Given the description of an element on the screen output the (x, y) to click on. 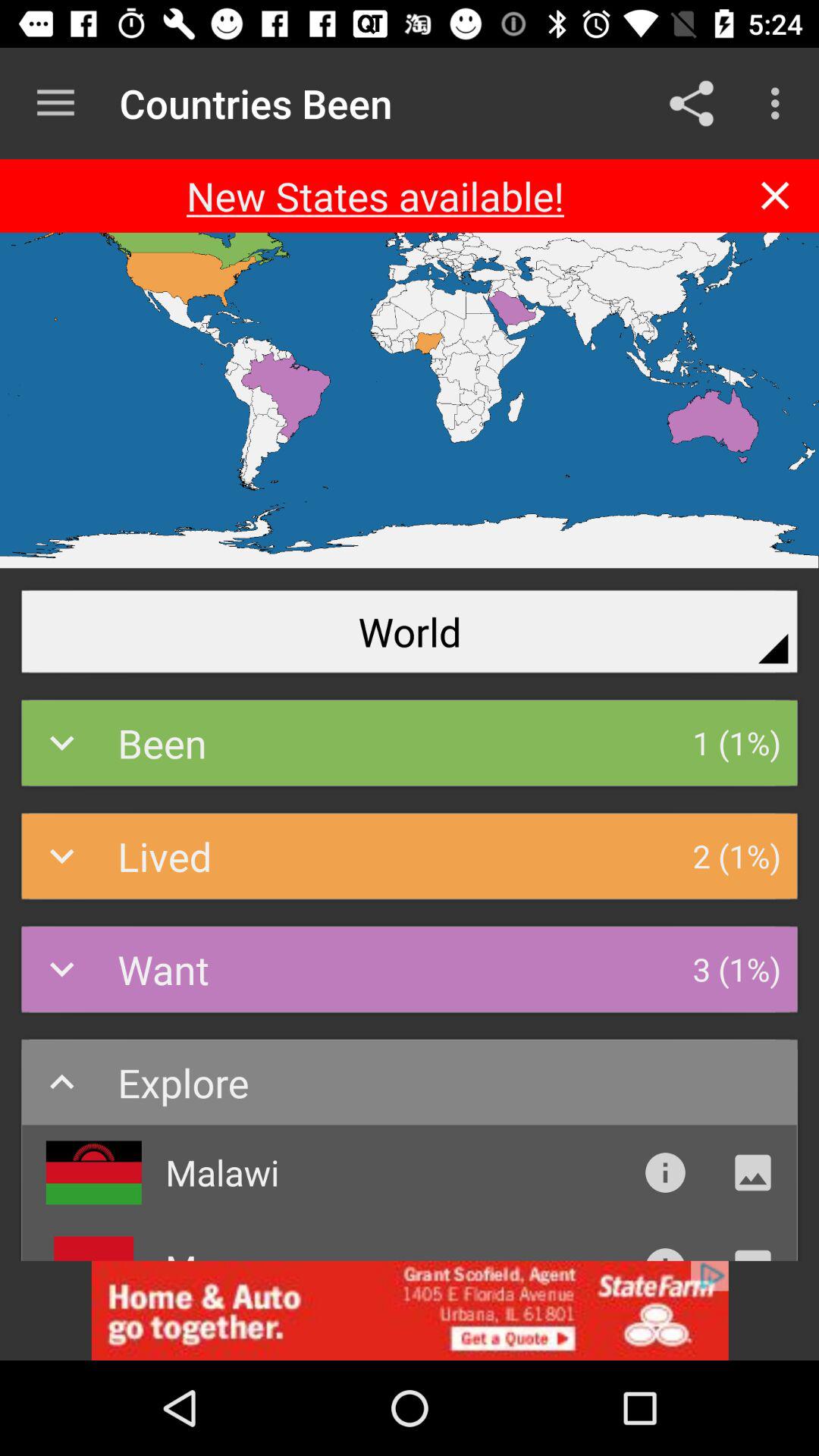
open sidebar menu (55, 103)
